Given the description of an element on the screen output the (x, y) to click on. 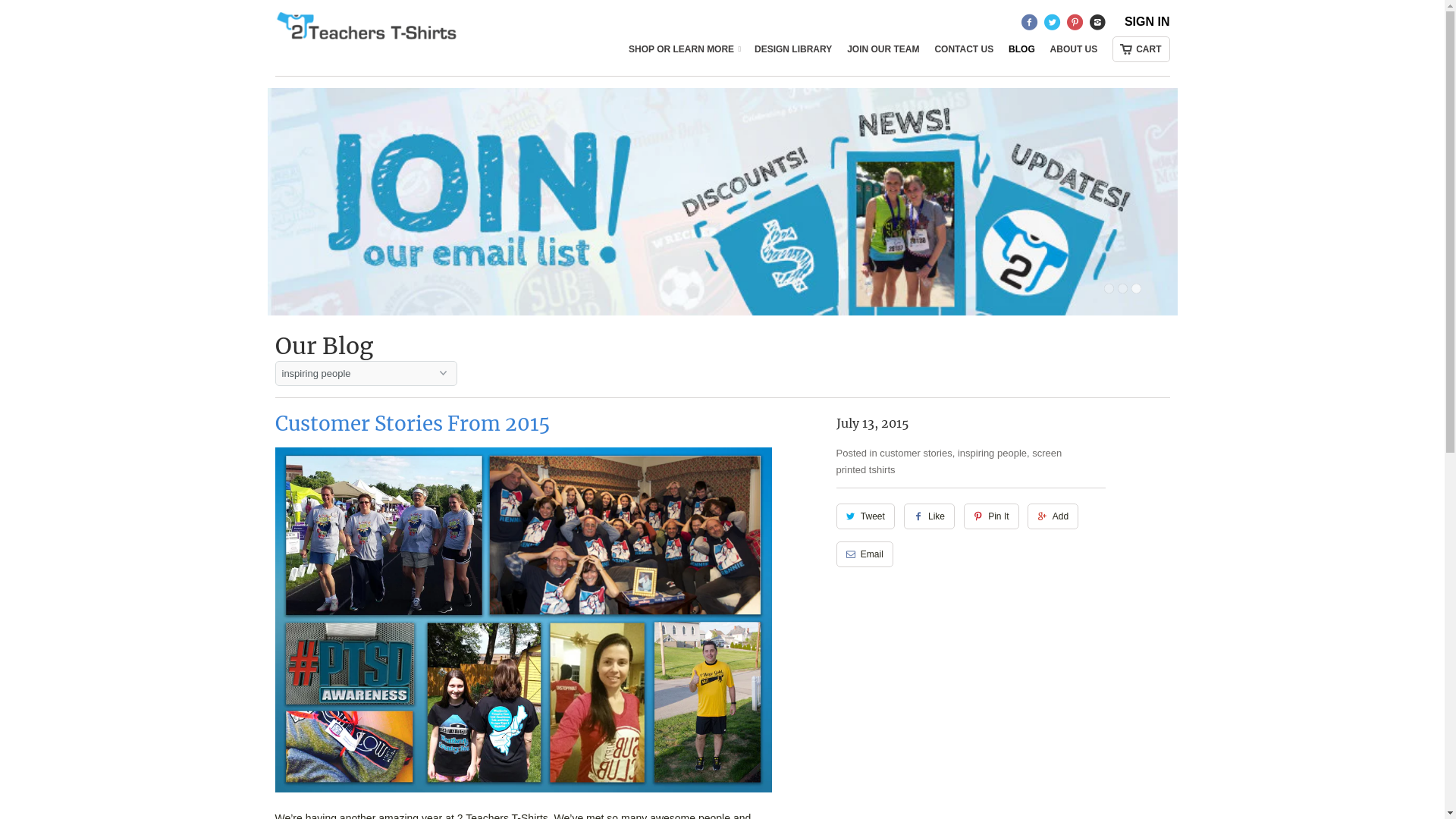
2 Teachers T-Shirts, LLC on Instagram Element type: hover (1098, 25)
2 Element type: text (1122, 288)
Email Element type: text (863, 554)
BLOG Element type: text (1021, 52)
inspiring people Element type: text (991, 452)
screen printed tshirts Element type: text (948, 461)
Customer Stories From 2015 Element type: text (411, 423)
2 Teachers T-Shirts, LLC on Facebook Element type: hover (1030, 25)
CONTACT US Element type: text (963, 52)
2 Teachers T-Shirts, LLC on Twitter Element type: hover (1053, 25)
1 Element type: text (1108, 288)
SIGN IN Element type: text (1147, 25)
Like Element type: text (928, 516)
JOIN OUR TEAM Element type: text (883, 52)
CART Element type: text (1140, 49)
Tweet Element type: text (864, 516)
3 Element type: text (1136, 288)
Pin It Element type: text (991, 516)
2 Teachers T-Shirts, LLC on Pinterest Element type: hover (1076, 25)
customer stories Element type: text (915, 452)
Add Element type: text (1052, 516)
ABOUT US Element type: text (1074, 52)
Our Blog Element type: text (323, 345)
DESIGN LIBRARY Element type: text (792, 52)
2 Teachers T-Shirts, LLC Element type: hover (370, 36)
